Given the description of an element on the screen output the (x, y) to click on. 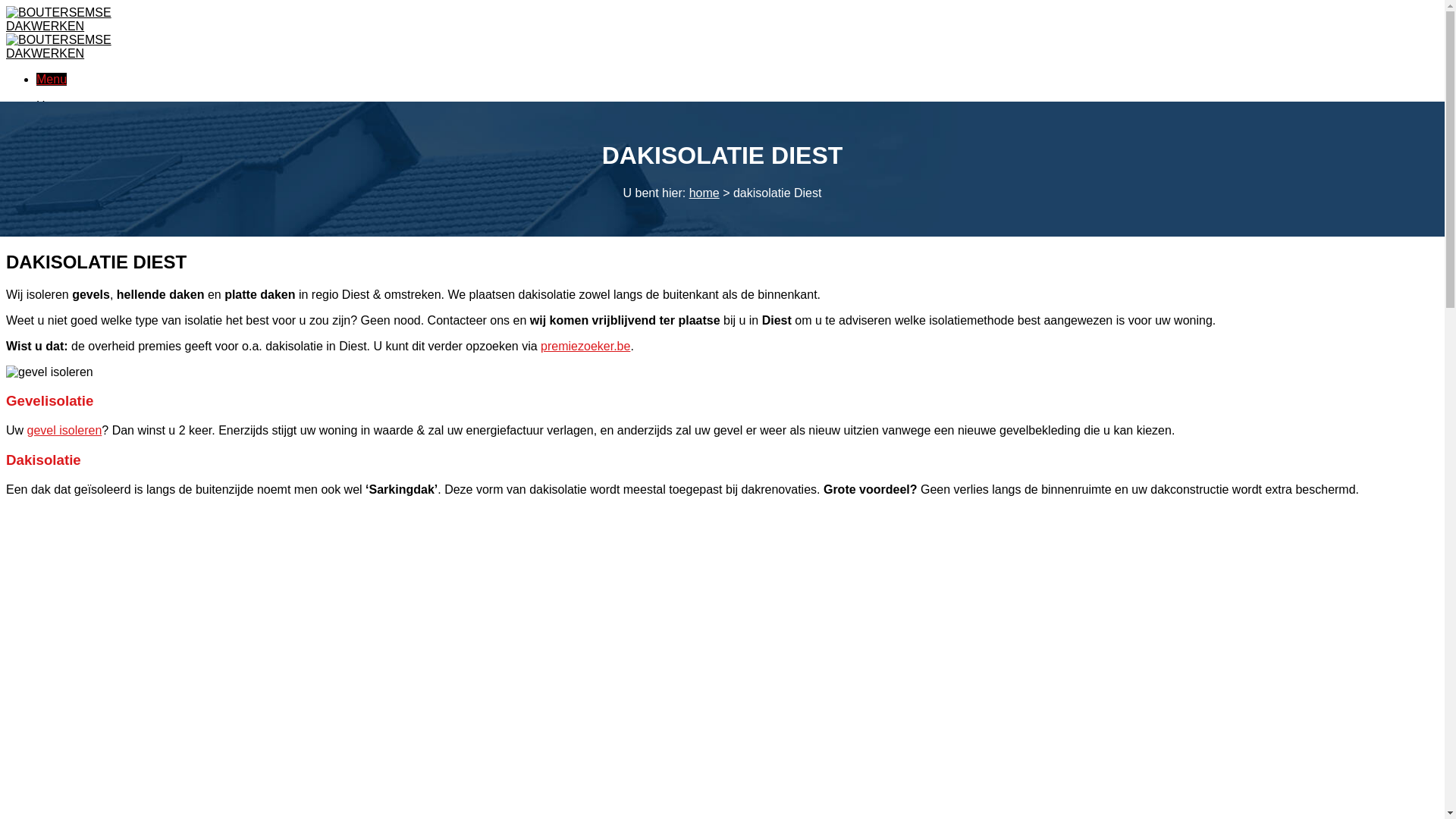
BOUTERSEMSE DAKWERKEN - BOUTERSEMSE DAKWERKEN Element type: hover (66, 39)
gevel isoleren Element type: text (64, 429)
Isolatie Element type: text (55, 135)
Dakwerken Element type: text (66, 120)
Dakreiniging Element type: text (69, 166)
Menu Element type: text (51, 78)
Gevelrenovatie Element type: text (77, 150)
home Element type: text (704, 192)
Realisaties Element type: text (65, 181)
premiezoeker.be Element type: text (585, 345)
Home Element type: text (52, 105)
CONTACT Element type: text (65, 209)
gevel isoleren Element type: hover (49, 372)
Skip to content Element type: text (5, 5)
dak isoleren Element type: hover (119, 584)
